Given the description of an element on the screen output the (x, y) to click on. 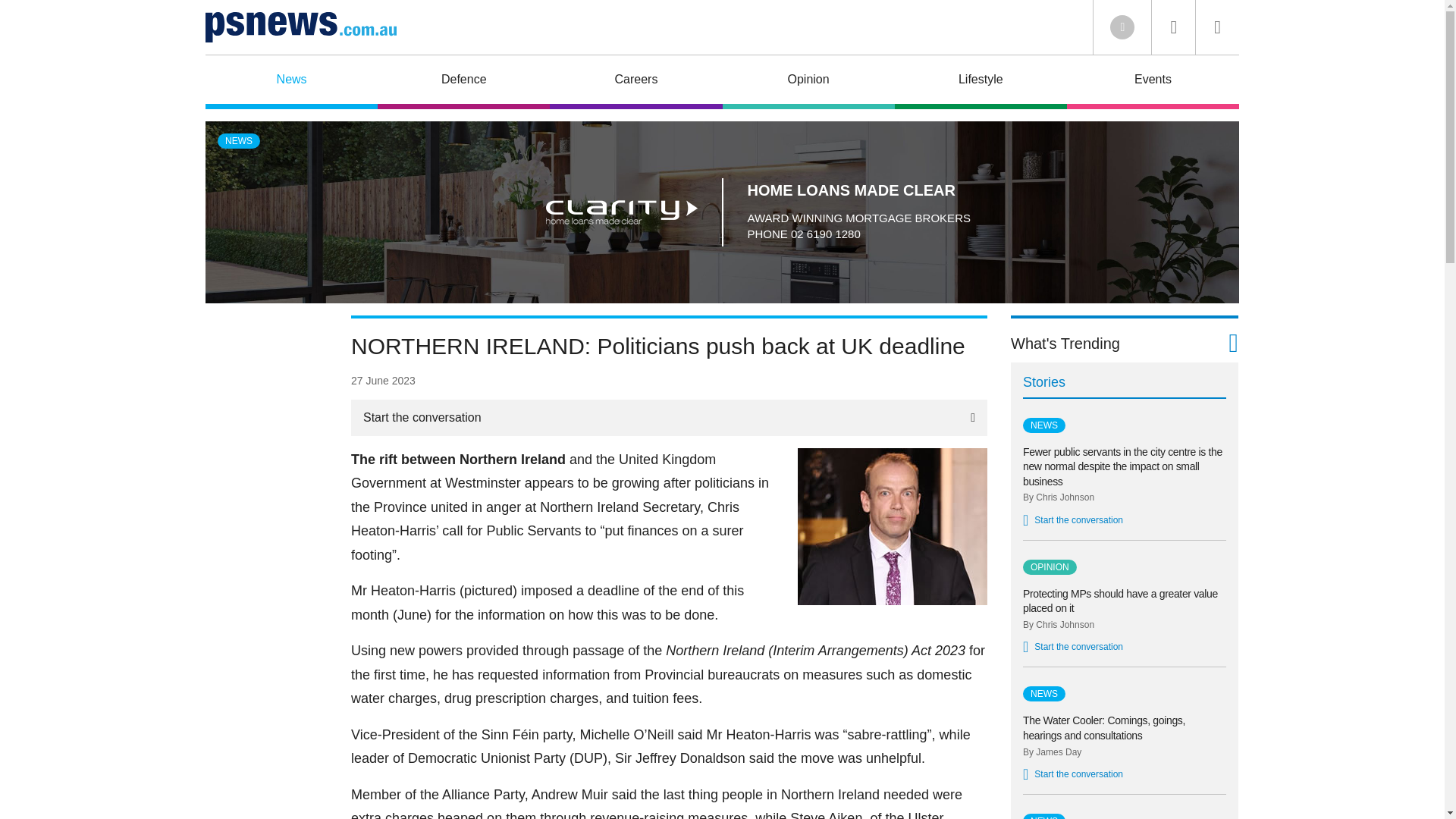
PS News Home (300, 26)
News (291, 81)
LinkedIn (1121, 27)
Defence (463, 81)
